Given the description of an element on the screen output the (x, y) to click on. 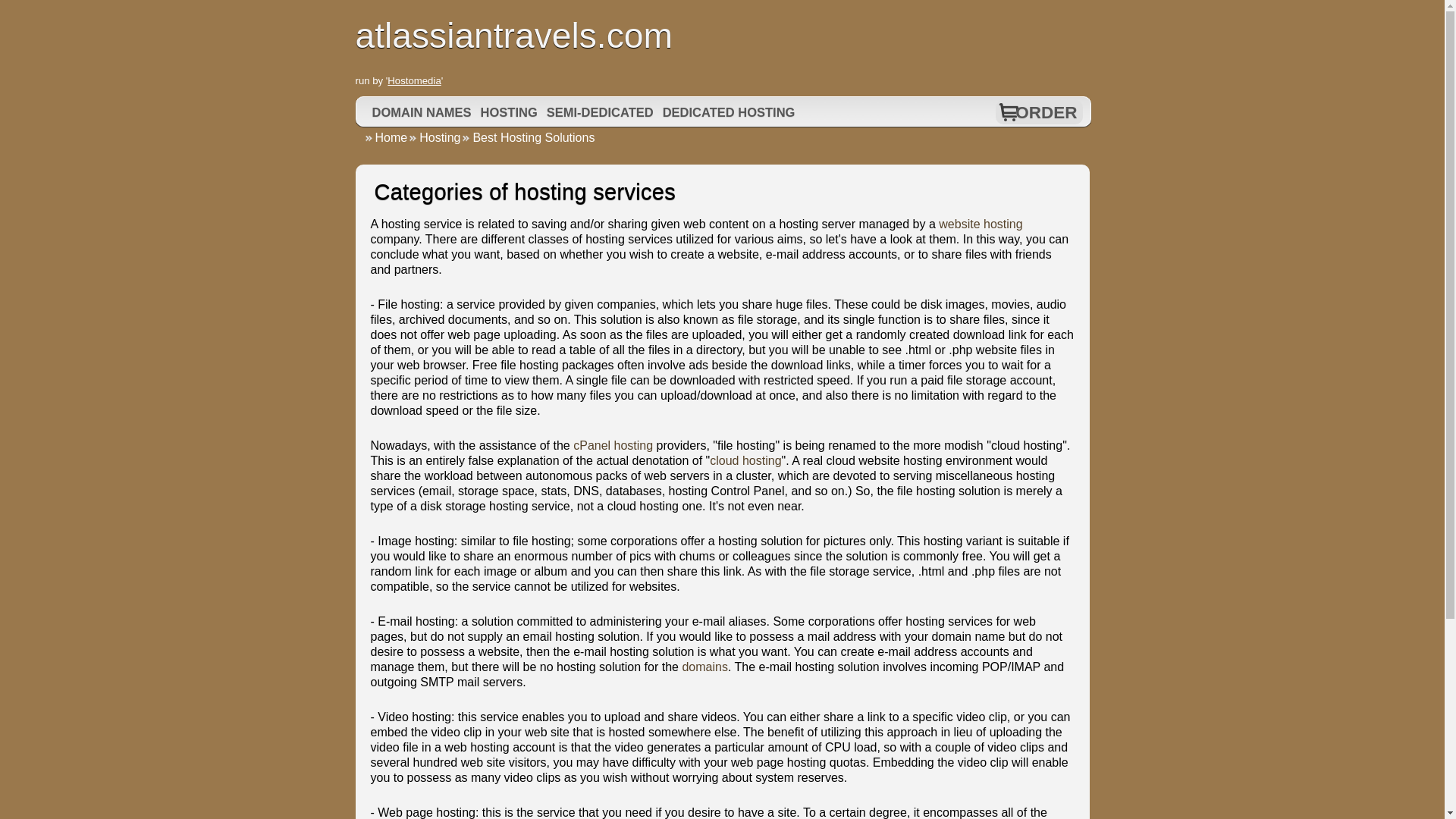
DOMAIN NAMES (422, 112)
cloud hosting (745, 460)
domains (703, 666)
Hosting (433, 137)
SEMI-DEDICATED (600, 112)
Home (384, 137)
Hostomedia (414, 80)
website hosting (980, 223)
DEDICATED HOSTING (729, 112)
cPanel hosting (612, 445)
HOSTING (509, 112)
ORDER (1045, 112)
